Given the description of an element on the screen output the (x, y) to click on. 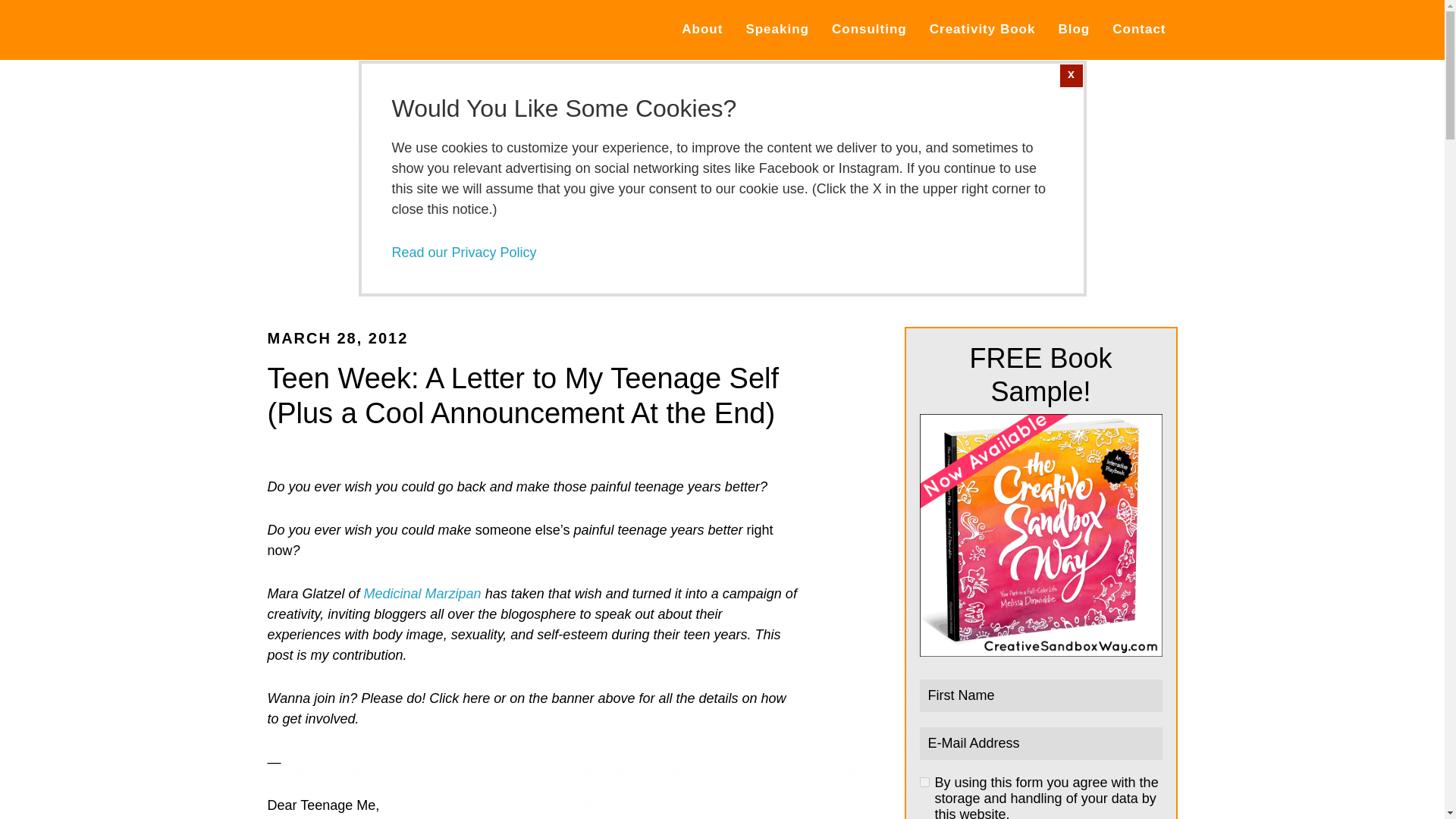
Creativity Book (982, 29)
Read our Privacy Policy (463, 252)
About (701, 29)
checked (923, 782)
Medicinal Marzipan (422, 593)
Contact (1138, 29)
Consulting (869, 29)
Speaking (777, 29)
Blog (1073, 29)
